Given the description of an element on the screen output the (x, y) to click on. 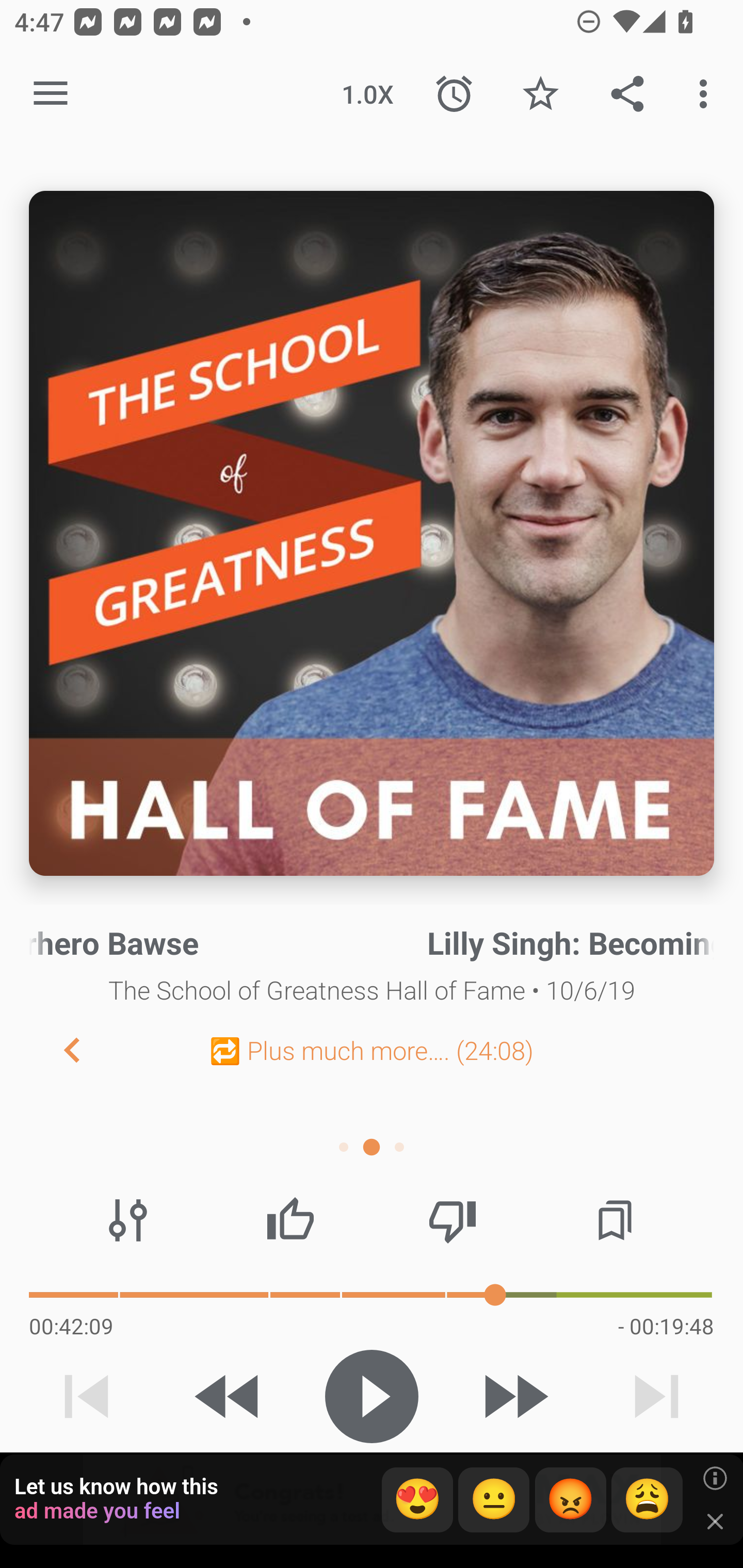
Open navigation sidebar (50, 93)
1.0X (366, 93)
Sleep Timer (453, 93)
Favorite (540, 93)
Share (626, 93)
More options (706, 93)
Episode description (371, 533)
Previous Chapter (56, 1049)
🔁 Plus much more…. (24:08) (371, 1050)
Audio effects (127, 1220)
Thumbs up (290, 1220)
Thumbs down (452, 1220)
Chapters / Bookmarks (614, 1220)
- 00:19:48 (666, 1325)
Previous track (86, 1395)
Skip 15s backward (228, 1395)
Play / Pause (371, 1395)
Skip 30s forward (513, 1395)
Next track (656, 1395)
app-monetization (371, 1500)
😍 (416, 1499)
😐 (493, 1499)
😡 (570, 1499)
😩 (647, 1499)
